Given the description of an element on the screen output the (x, y) to click on. 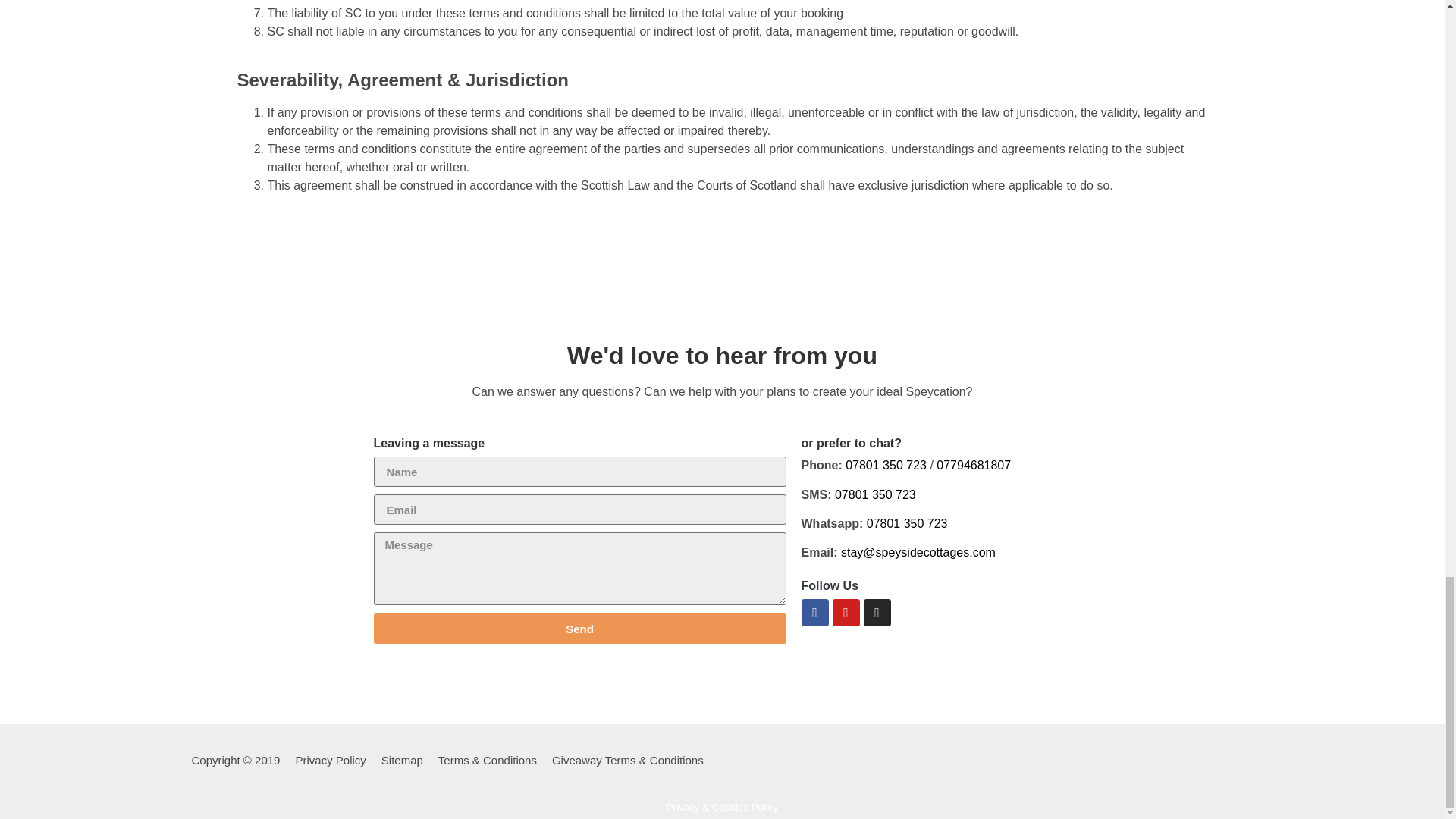
07801 350 723 (874, 494)
Send (579, 628)
07801 350 723 (884, 464)
Privacy Policy (330, 759)
Sitemap (402, 759)
07794681807 (973, 464)
07801 350 723 (906, 522)
Follow Us (829, 585)
